Given the description of an element on the screen output the (x, y) to click on. 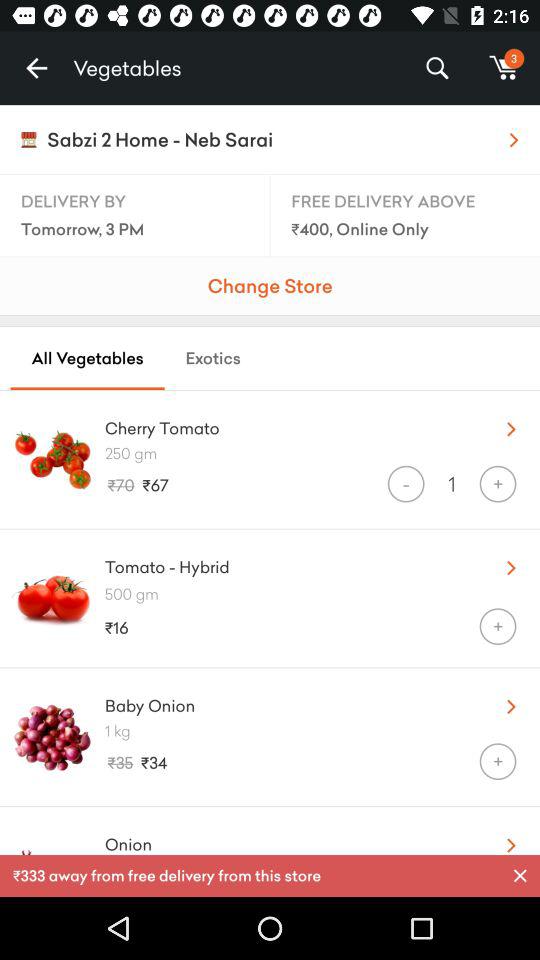
launch cherry tomato icon (288, 424)
